Given the description of an element on the screen output the (x, y) to click on. 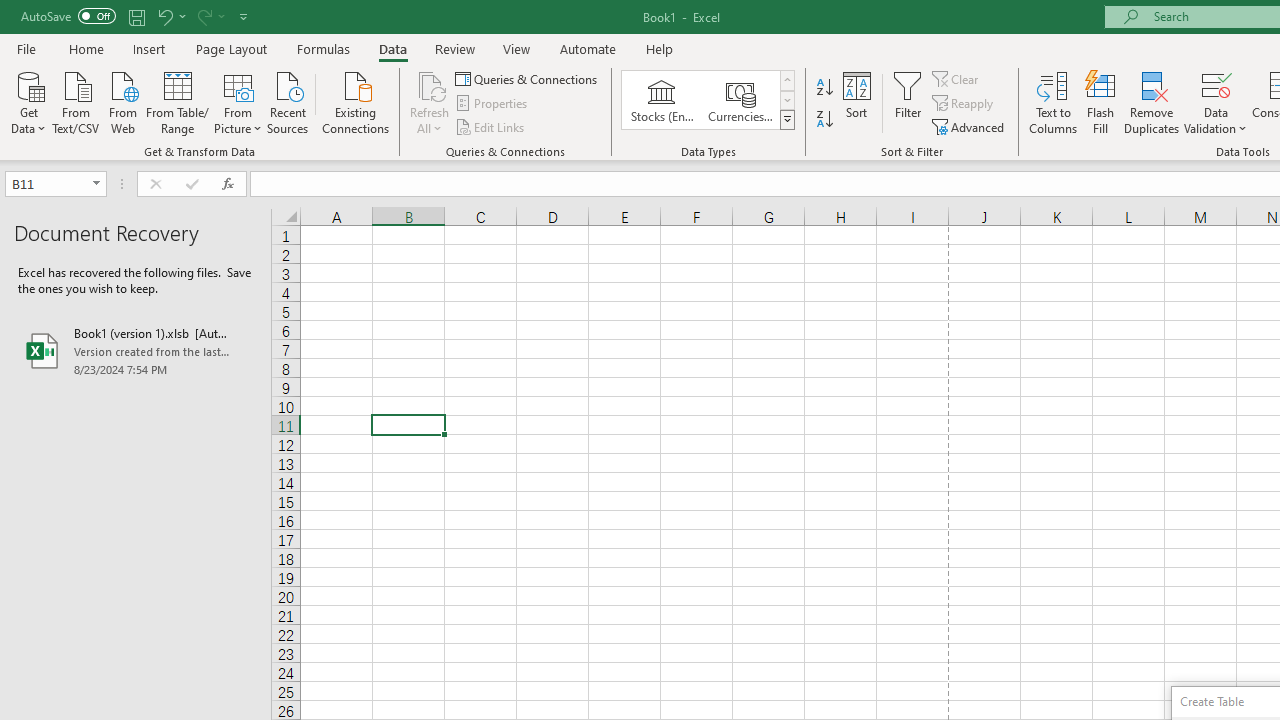
Properties (492, 103)
Text to Columns... (1053, 102)
Recent Sources (287, 101)
Flash Fill (1101, 102)
Sort A to Z (824, 87)
Currencies (English) (740, 100)
